Given the description of an element on the screen output the (x, y) to click on. 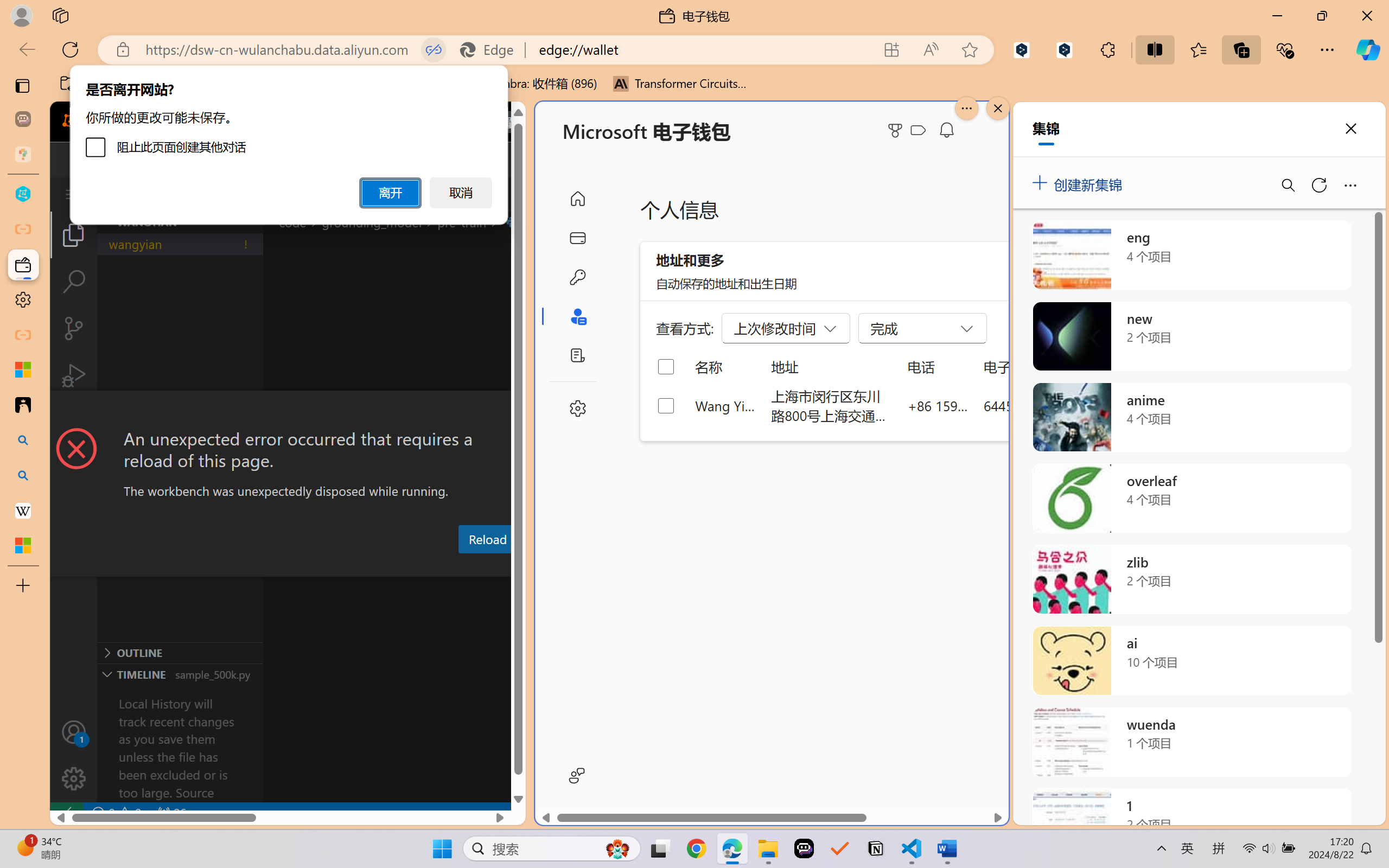
Debug Console (Ctrl+Shift+Y) (463, 565)
Copilot (Ctrl+Shift+.) (1368, 49)
Extensions (Ctrl+Shift+X) (73, 422)
Wang Yian (725, 405)
